Given the description of an element on the screen output the (x, y) to click on. 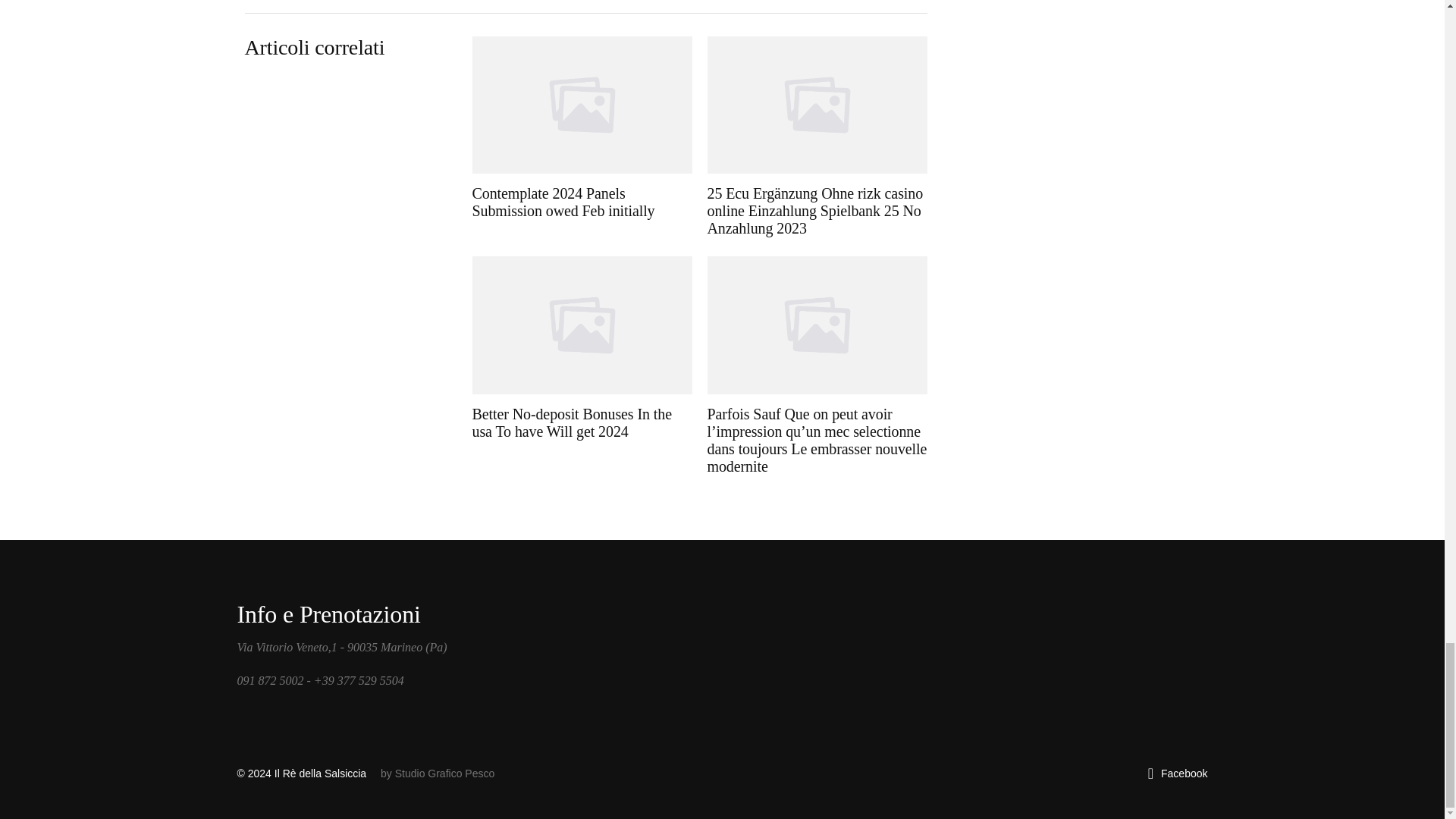
Studio Grafico Pesco (444, 773)
Better No-deposit Bonuses In the usa To have Will get 2024 (581, 365)
Contemplate 2024 Panels Submission owed Feb initially (581, 137)
Contemplate 2024 Panels Submission owed Feb initially (581, 137)
Facebook (1178, 773)
Better No-deposit Bonuses In the usa To have Will get 2024 (581, 365)
